Given the description of an element on the screen output the (x, y) to click on. 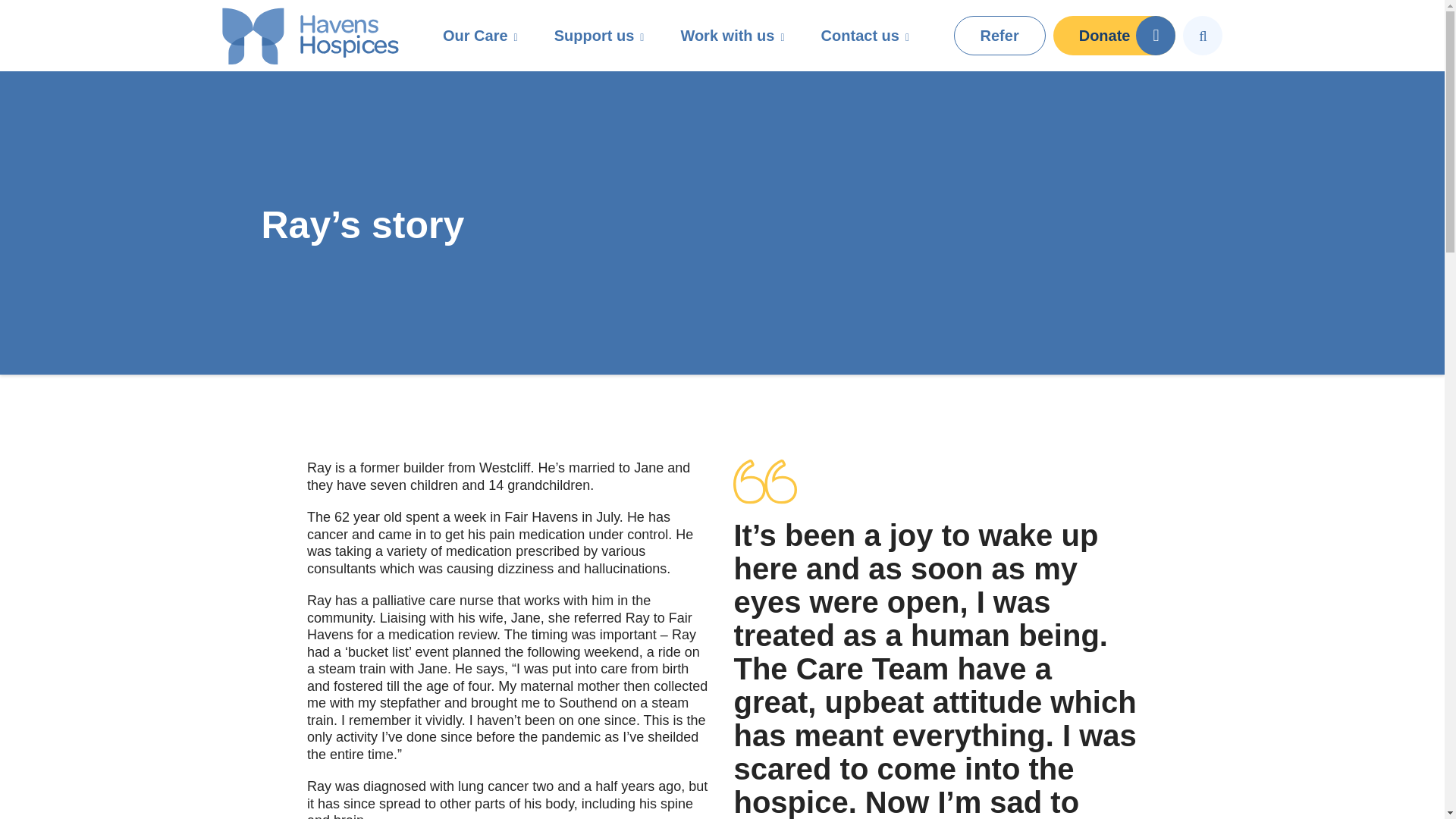
Our Care (480, 35)
Support us (598, 35)
